Given the description of an element on the screen output the (x, y) to click on. 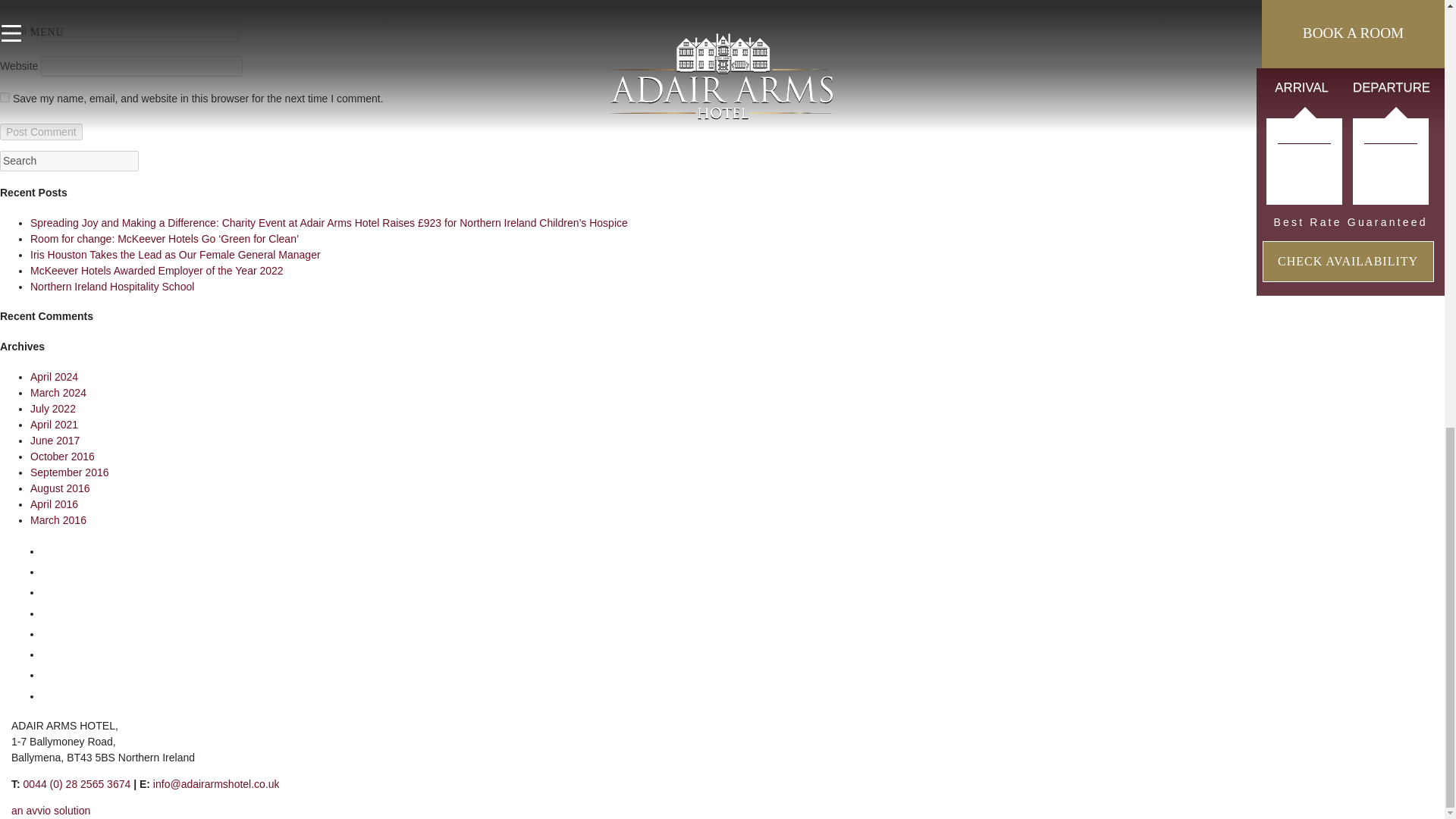
Post Comment (41, 131)
yes (5, 97)
Search (69, 160)
Call Us (77, 784)
Email Us (215, 784)
Search (69, 160)
Post Comment (41, 131)
